Given the description of an element on the screen output the (x, y) to click on. 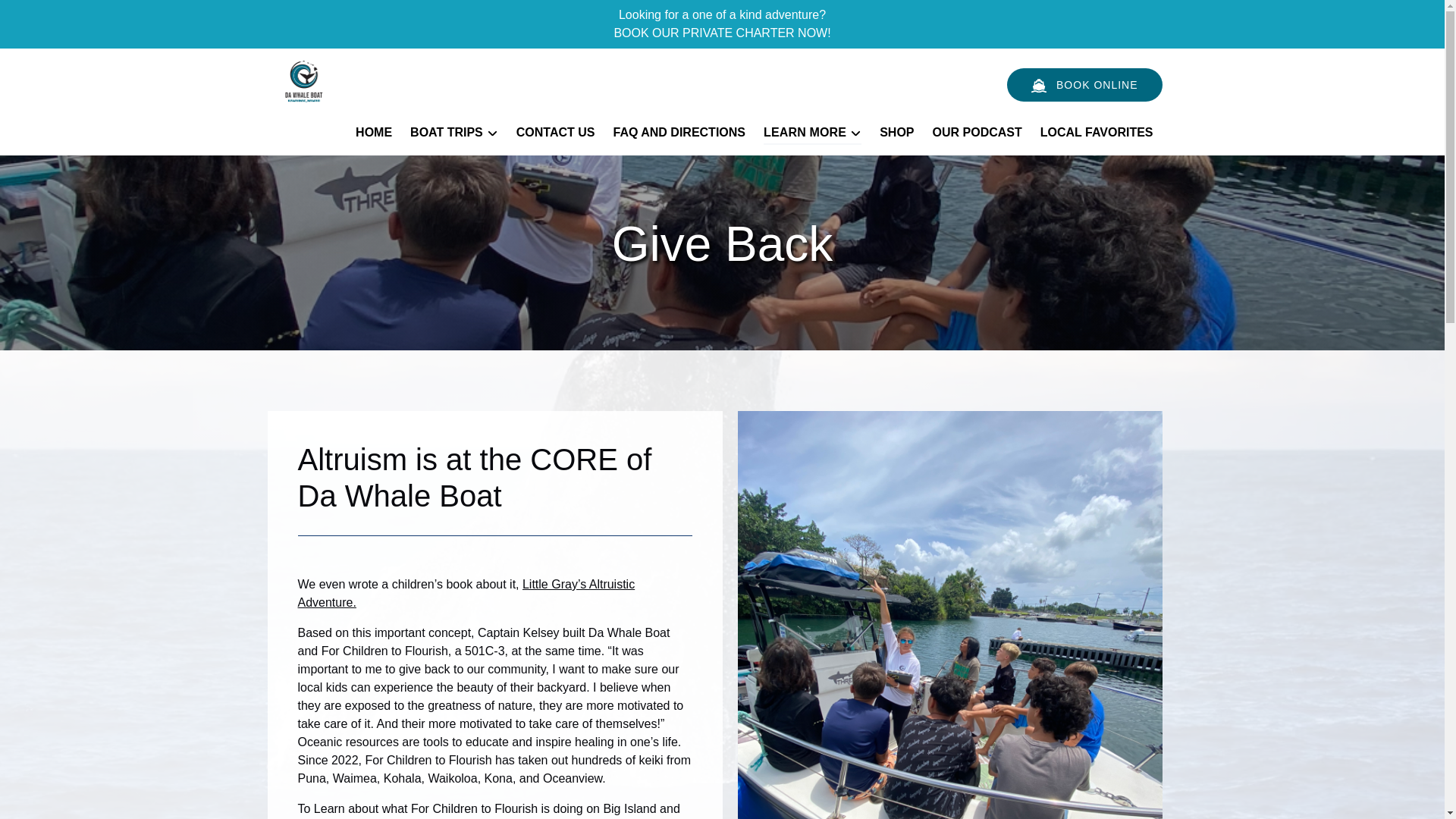
OUR PODCAST (976, 132)
BOAT TRIPS (453, 132)
CRUISE SHIP BOOK ONLINE (1084, 84)
HOME (373, 132)
LEARN MORE (812, 132)
LOCAL FAVORITES (1095, 132)
CONTACT US (555, 132)
Skip to content (47, 16)
FAQ AND DIRECTIONS (679, 132)
Open Boat Trips Menu (457, 128)
